Given the description of an element on the screen output the (x, y) to click on. 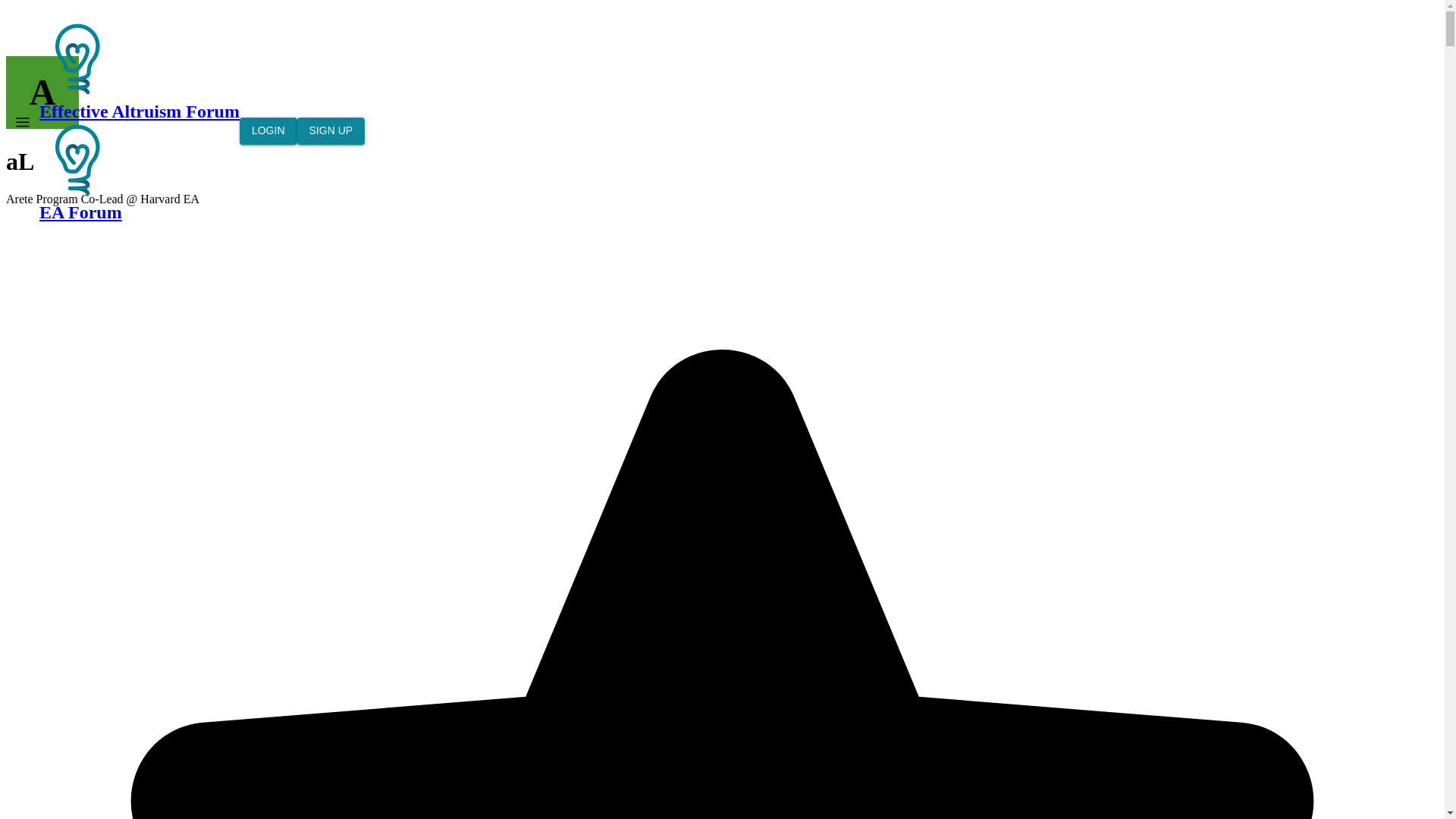
Effective Altruism Forum (77, 59)
Effective Altruism Forum (139, 71)
EA Forum (139, 171)
LOGIN (268, 130)
A (41, 92)
Effective Altruism Forum (77, 160)
SIGN UP (331, 130)
